Given the description of an element on the screen output the (x, y) to click on. 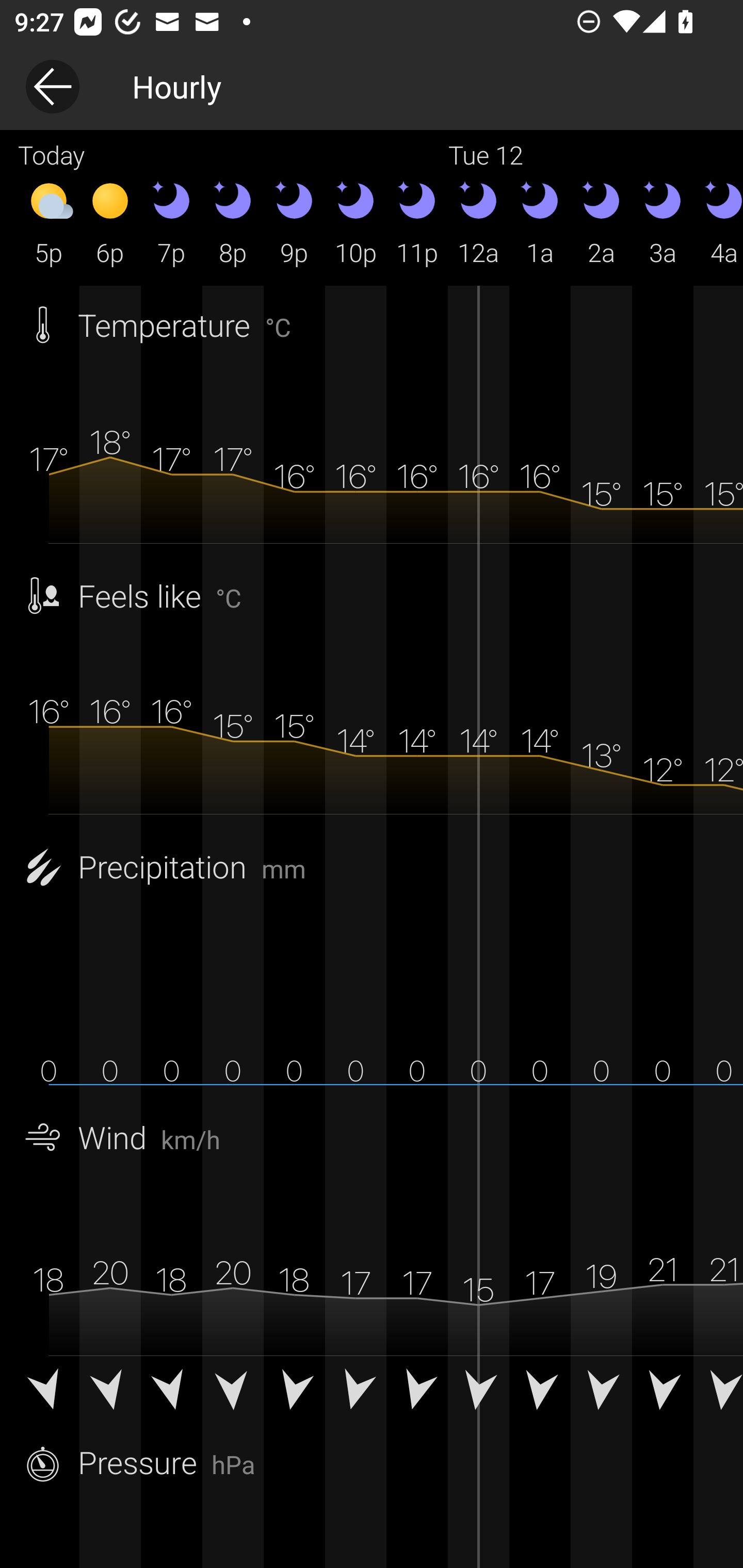
5p (48, 222)
6p (110, 222)
7p (171, 222)
8p (232, 222)
9p (294, 222)
10p (355, 222)
11p (417, 222)
12a (478, 222)
1a (539, 222)
2a (601, 222)
3a (662, 222)
4a (718, 222)
 (48, 1391)
 (110, 1391)
 (171, 1391)
 (232, 1391)
 (294, 1391)
 (355, 1391)
 (417, 1391)
 (478, 1391)
 (539, 1391)
 (601, 1391)
 (662, 1391)
 (718, 1391)
